Given the description of an element on the screen output the (x, y) to click on. 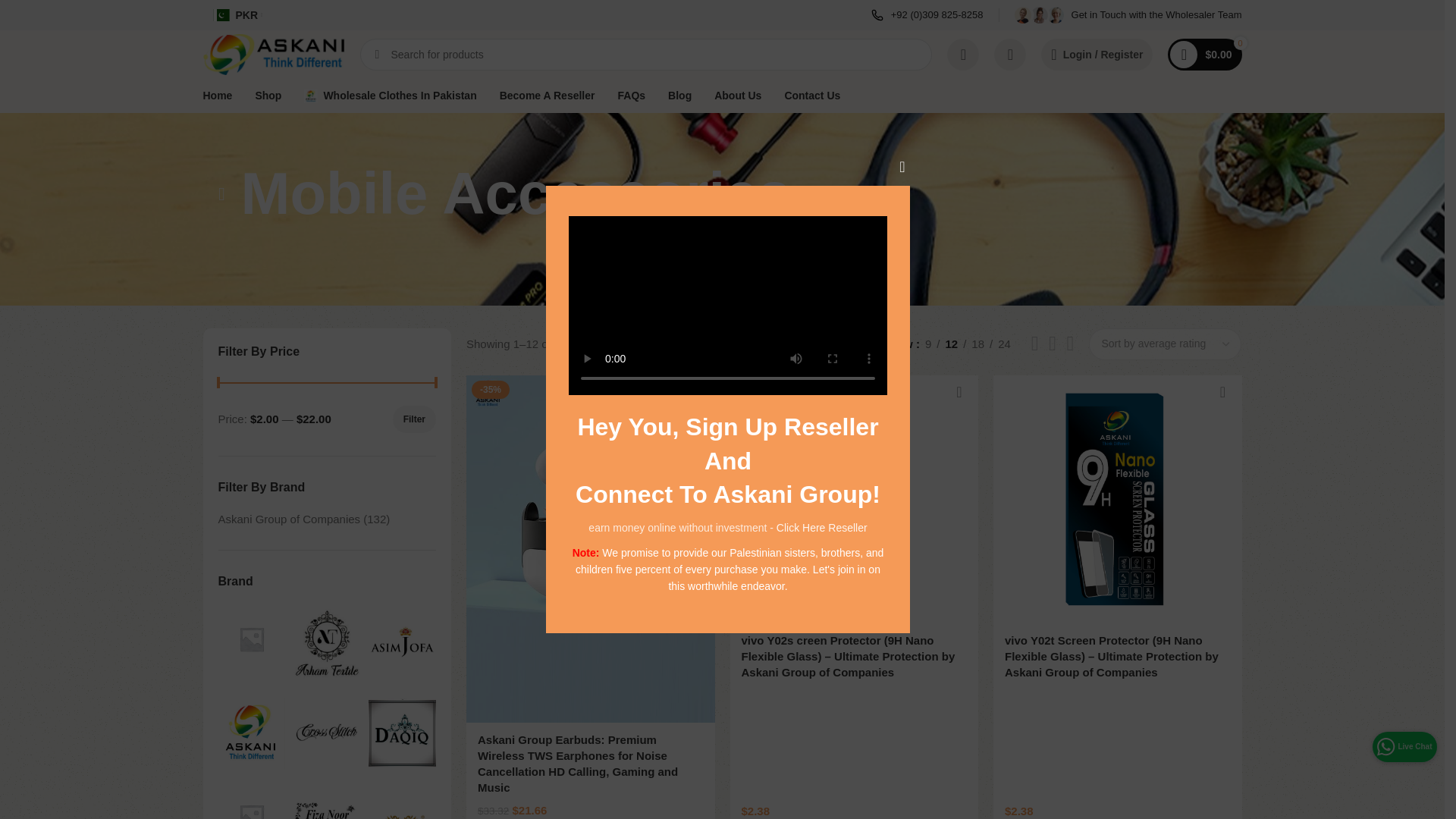
My Wishlist (1010, 54)
FAQs (631, 95)
Search for products (645, 54)
Become A Reseller (547, 95)
Almeer Fashion (251, 637)
My account (1096, 54)
Shopping cart (1204, 54)
Contact Us (812, 95)
Pakistan Flag in Currency Menu (221, 15)
Wholesale Clothes In Pakistan (390, 95)
Arham Textile (326, 643)
PKR (237, 15)
Filter (414, 419)
Compare products (963, 54)
wd-furniture-phone (876, 15)
